Given the description of an element on the screen output the (x, y) to click on. 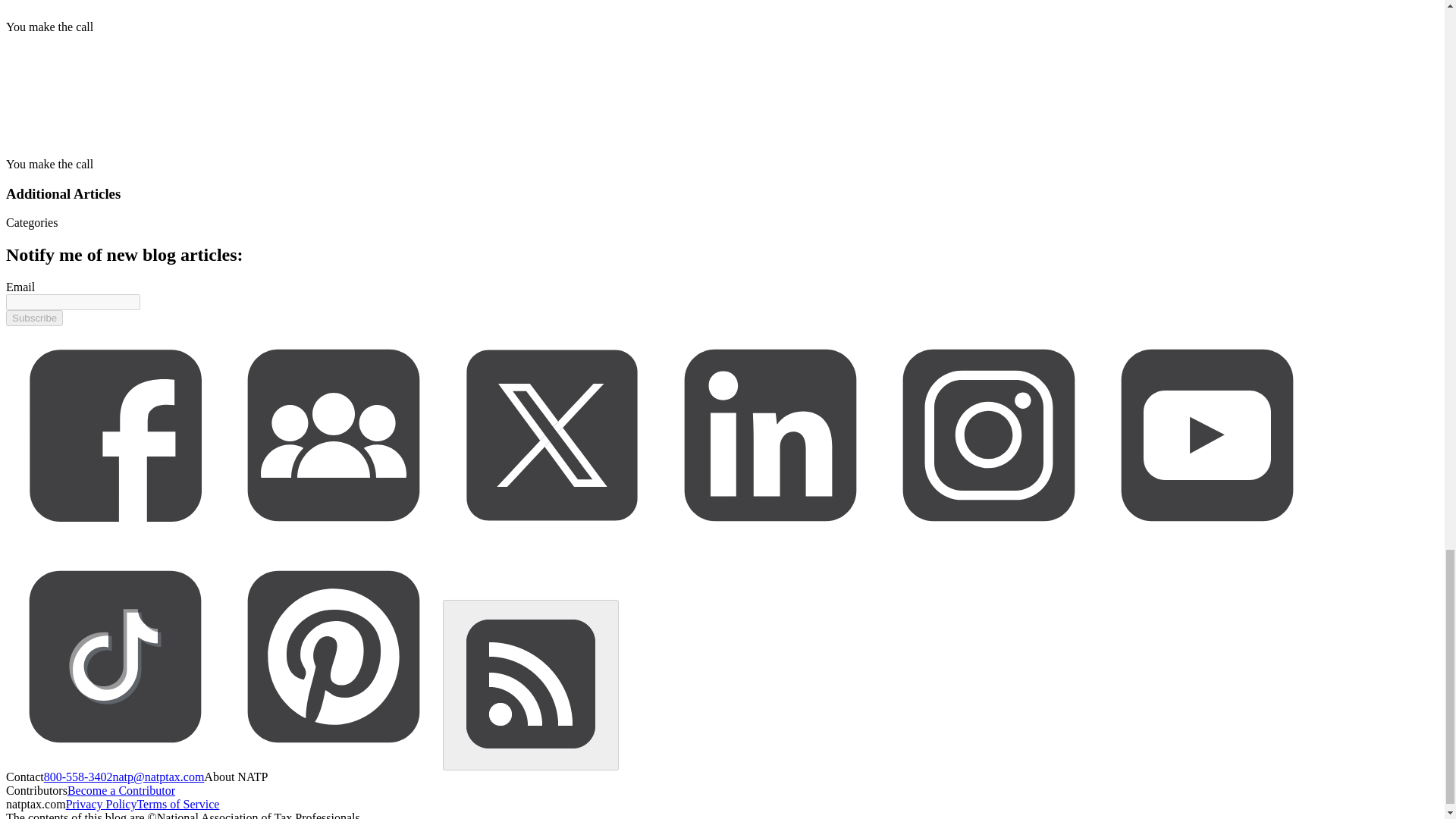
Privacy Policy (100, 803)
Subscribe (33, 317)
Become a Contributor (120, 789)
800-558-3402 (78, 776)
Terms of Service (177, 803)
Email (19, 286)
